Given the description of an element on the screen output the (x, y) to click on. 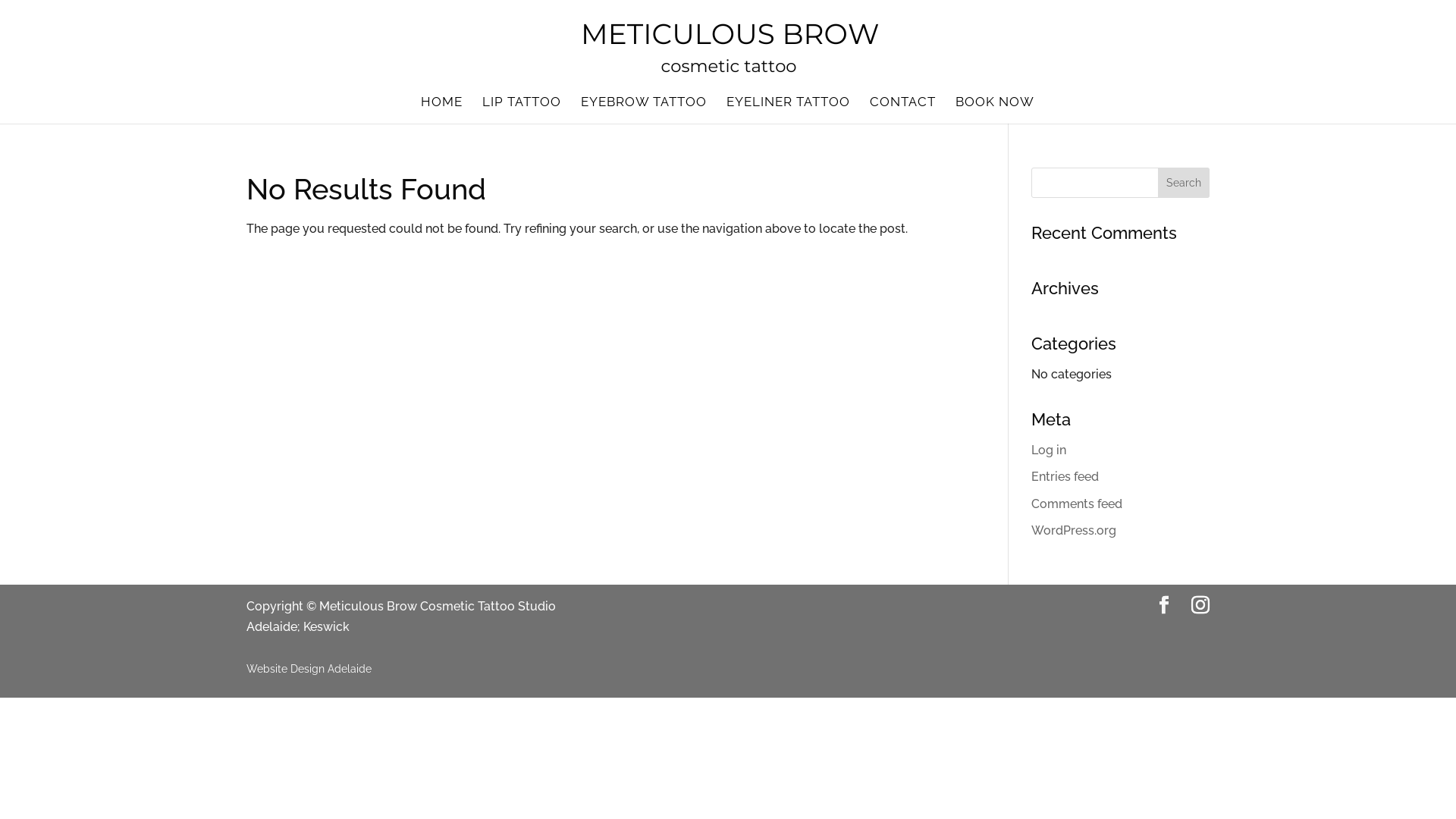
BOOK NOW Element type: text (994, 109)
LIP TATTOO Element type: text (521, 109)
Search Element type: text (1183, 182)
CONTACT Element type: text (902, 109)
Entries feed Element type: text (1064, 476)
EYEBROW TATTOO Element type: text (643, 109)
HOME Element type: text (440, 109)
Log in Element type: text (1048, 449)
Website Design Adelaide Element type: text (308, 667)
Comments feed Element type: text (1076, 503)
EYELINER TATTOO Element type: text (788, 109)
WordPress.org Element type: text (1073, 530)
